Given the description of an element on the screen output the (x, y) to click on. 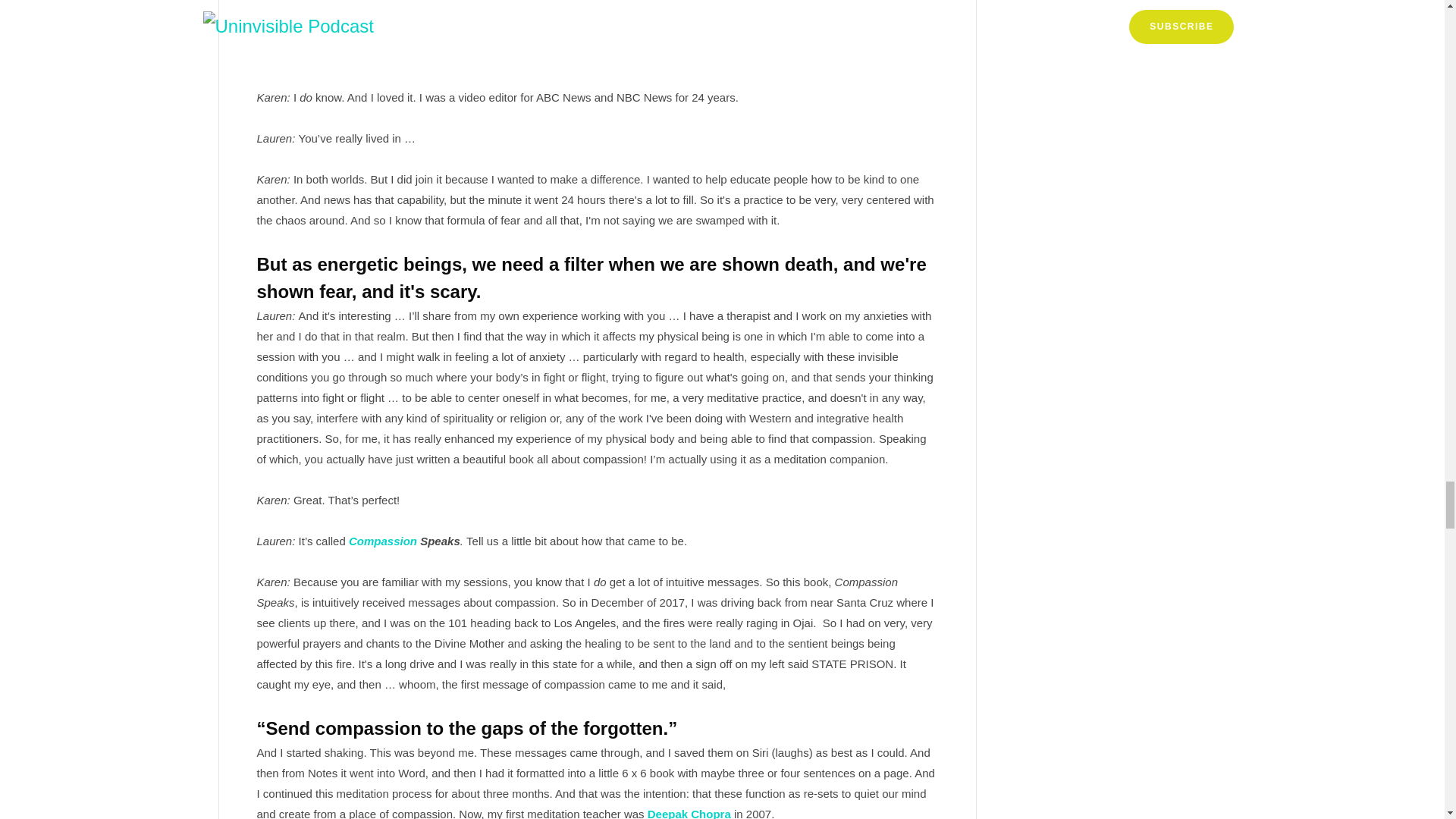
Deepak Chopra (688, 813)
Compassion (384, 540)
